Given the description of an element on the screen output the (x, y) to click on. 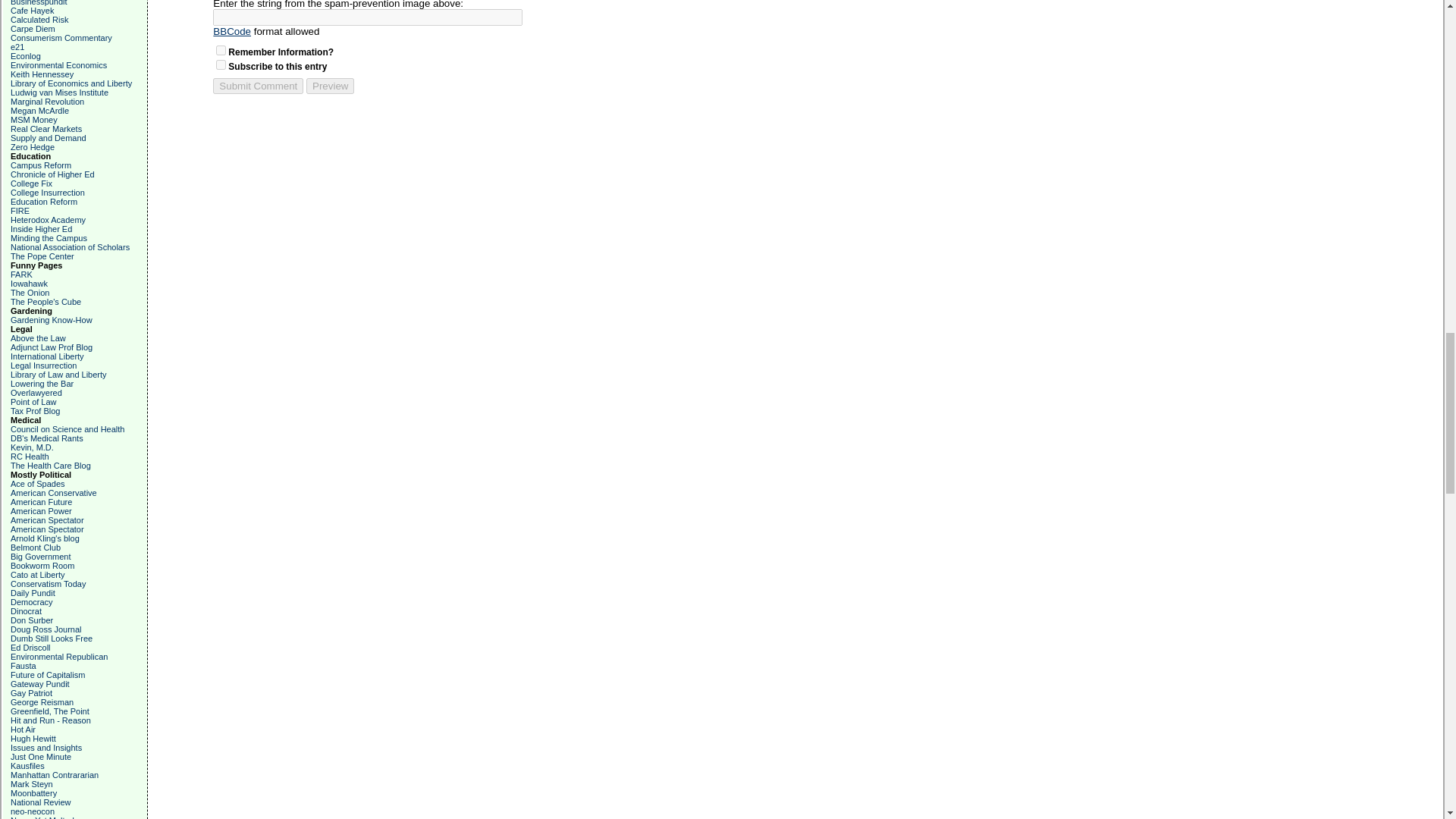
on (220, 64)
on (220, 50)
Submit Comment (257, 85)
Preview (329, 85)
